Given the description of an element on the screen output the (x, y) to click on. 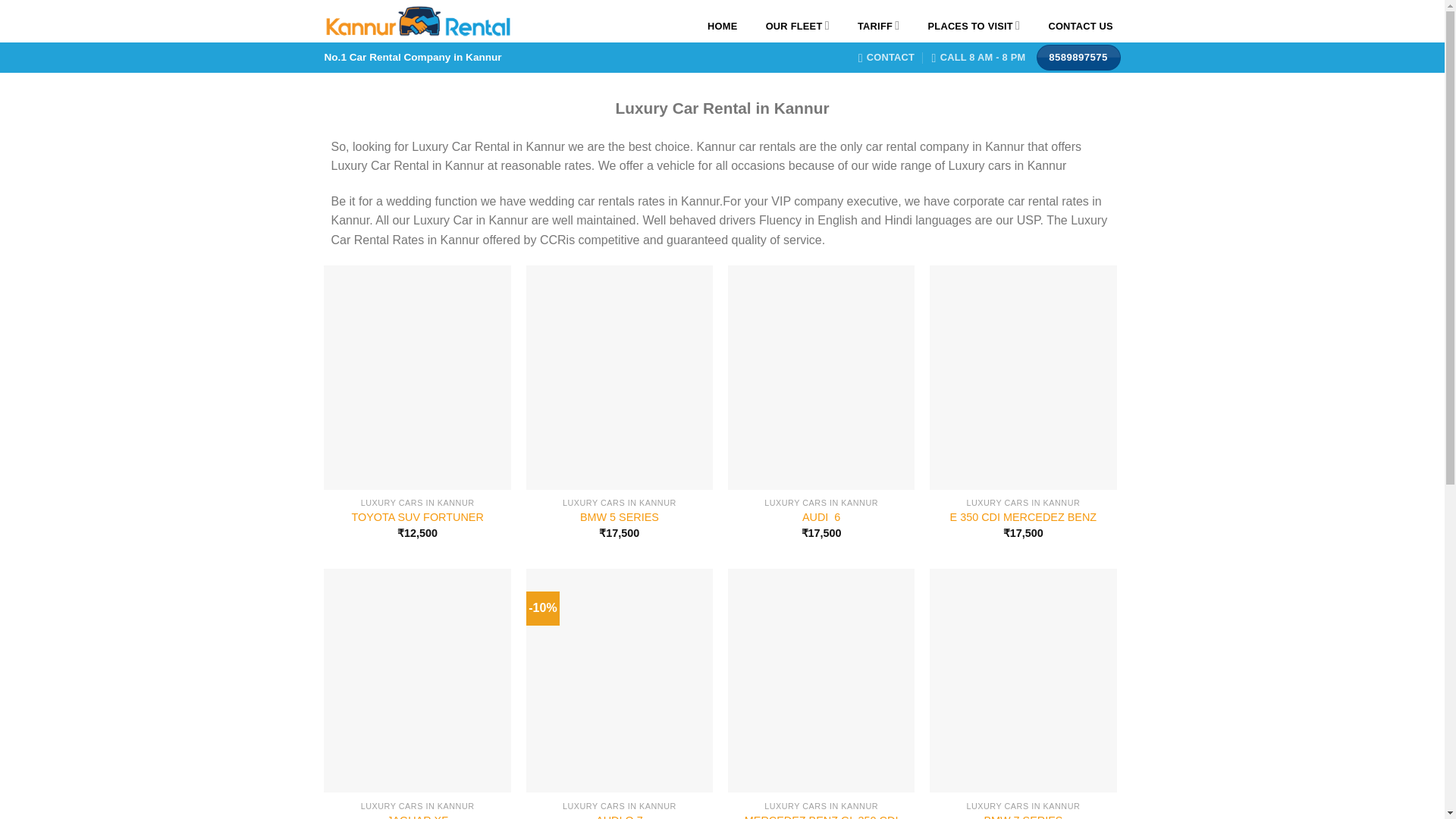
CONTACT (887, 57)
MERCEDEZ BENZ GL 350 CDI (821, 816)
AUDI  6 (821, 517)
JAGUAR XF (417, 816)
HOME (722, 25)
Call 8 AM - 8 PM  (978, 57)
8589897575 (1078, 57)
CALL 8 AM - 8 PM (978, 57)
E 350 CDI MERCEDEZ BENZ (1023, 517)
TARIFF (878, 25)
PLACES TO VISIT (973, 25)
CONTACT US (1081, 25)
TOYOTA SUV FORTUNER (416, 517)
BMW 5 SERIES (619, 517)
OUR FLEET (796, 25)
